Given the description of an element on the screen output the (x, y) to click on. 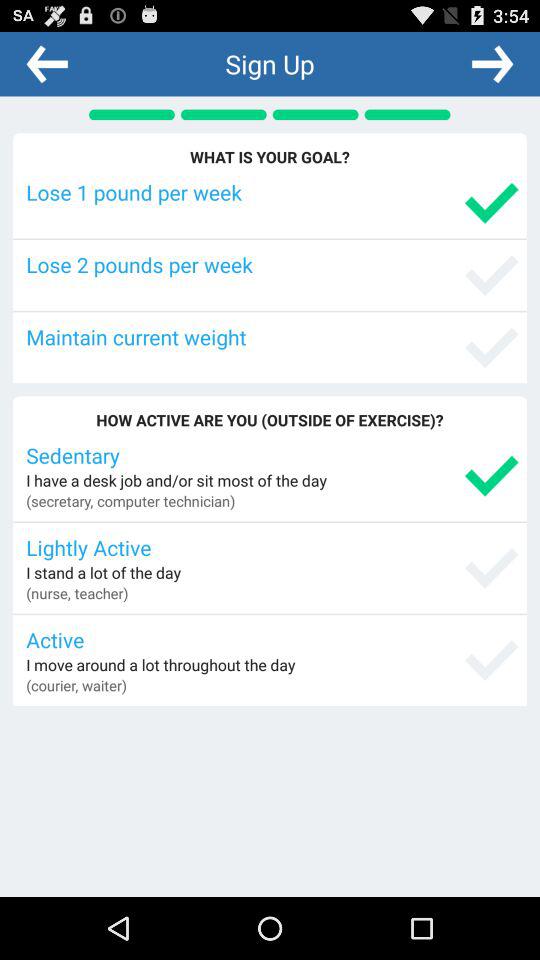
choose the icon below the i stand a (77, 593)
